Given the description of an element on the screen output the (x, y) to click on. 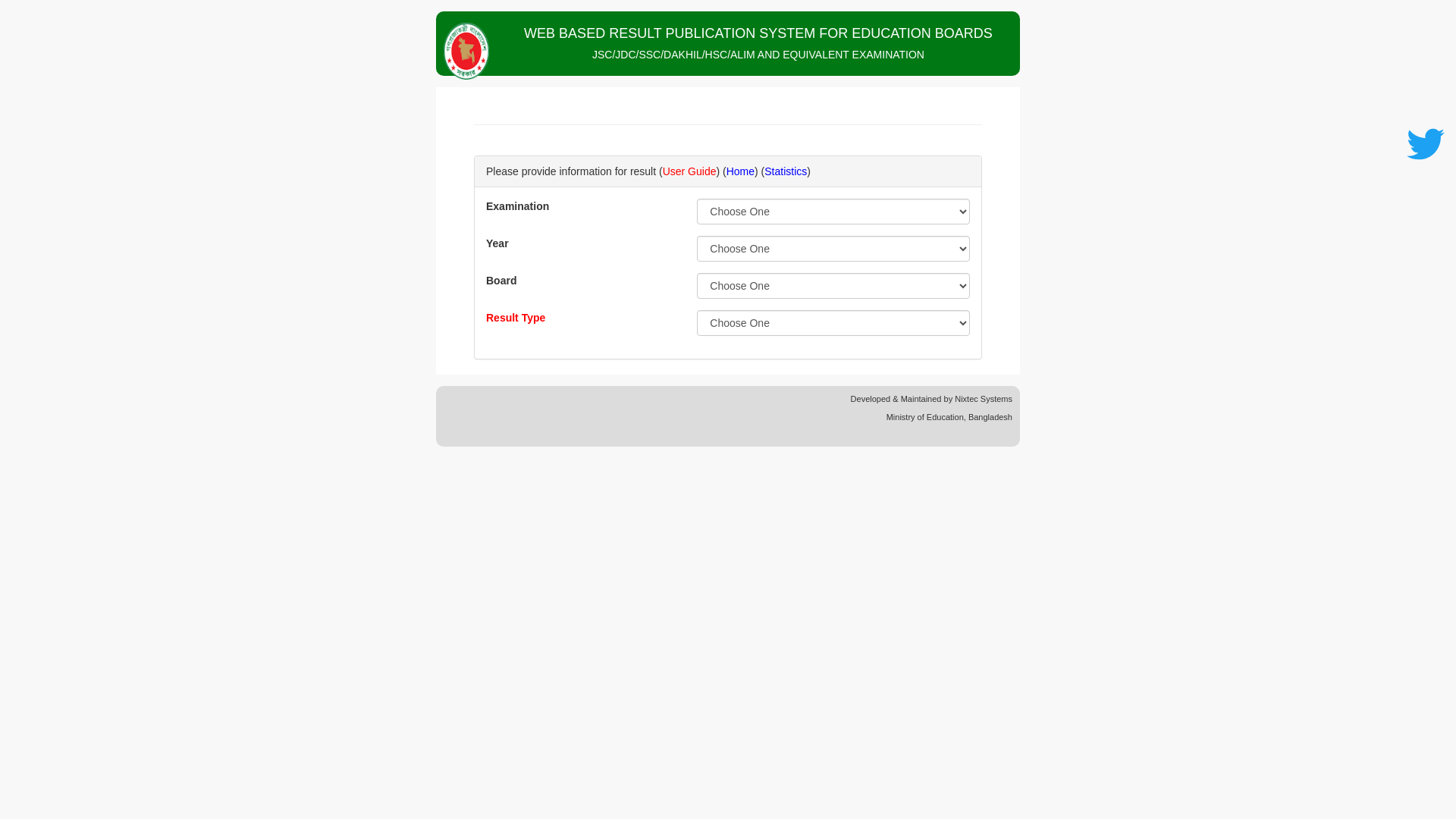
Statistics Element type: text (785, 171)
User Guide Element type: text (689, 171)
Home Element type: text (740, 171)
